Given the description of an element on the screen output the (x, y) to click on. 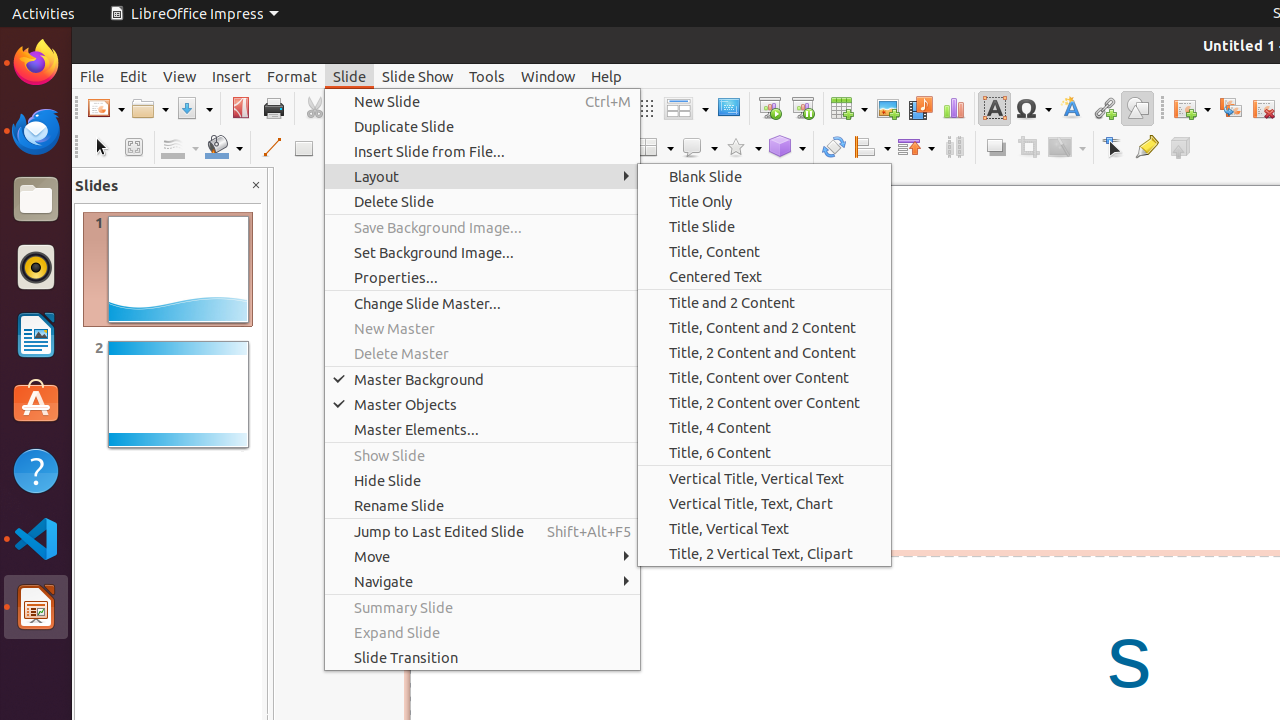
New Slide Element type: menu-item (482, 101)
Zoom & Pan Element type: push-button (133, 147)
Visual Studio Code Element type: push-button (36, 538)
Insert Element type: menu (231, 76)
Duplicate Slide Element type: menu-item (482, 126)
